Given the description of an element on the screen output the (x, y) to click on. 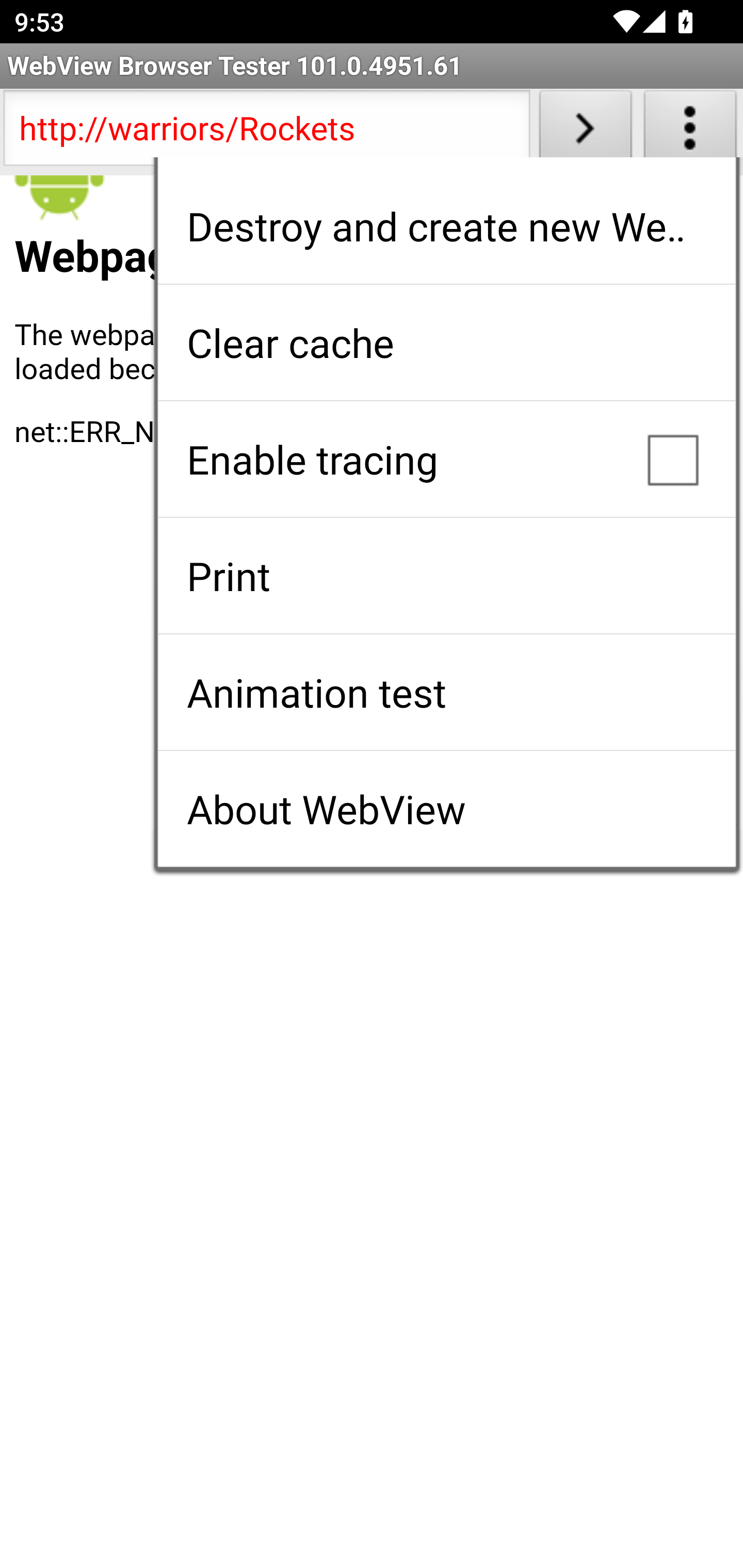
Destroy and create new WebView (446, 225)
Clear cache (446, 342)
Enable tracing (446, 459)
Print (446, 575)
Animation test (446, 692)
About WebView (446, 809)
